Given the description of an element on the screen output the (x, y) to click on. 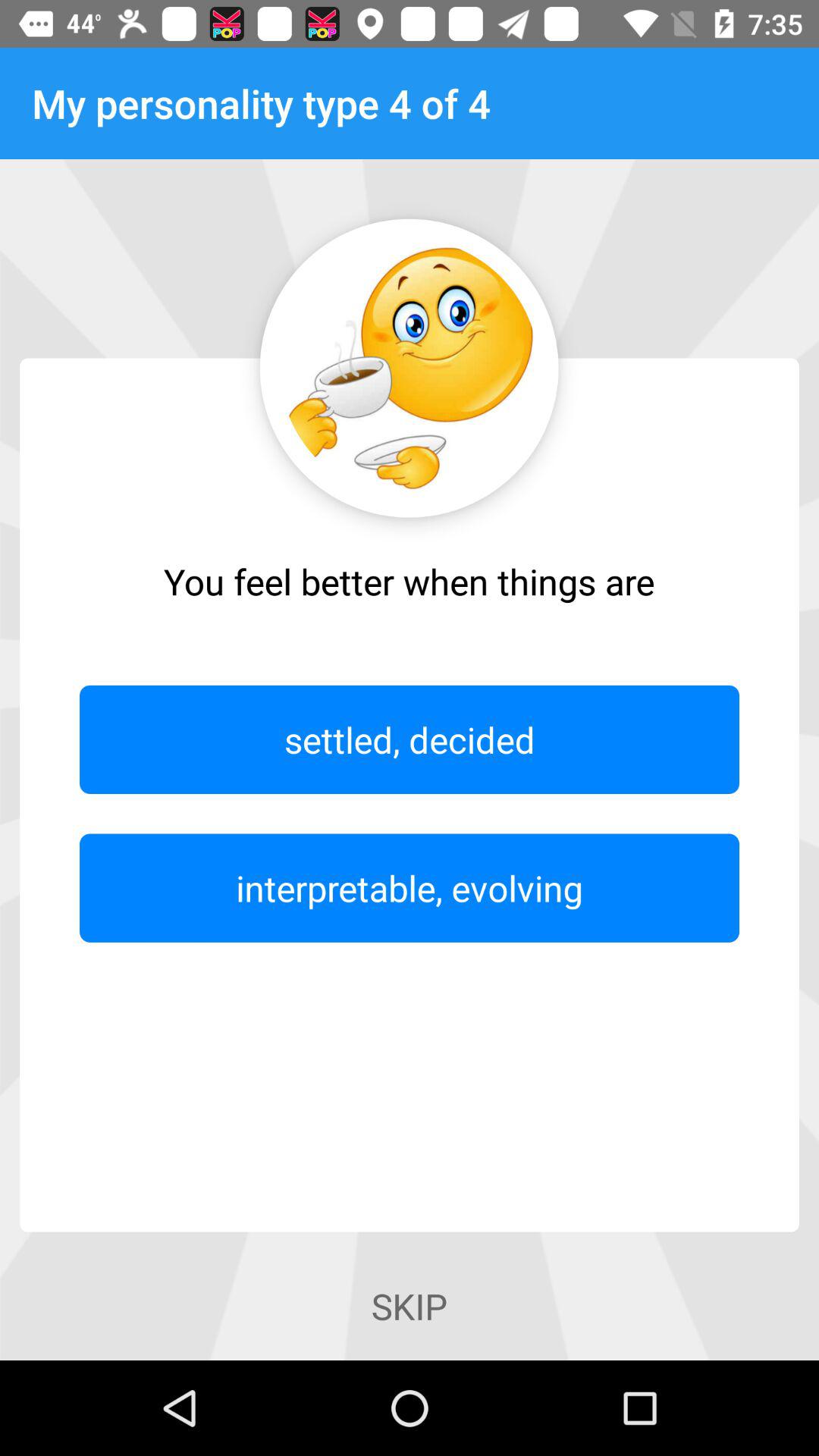
turn on icon above interpretable, evolving item (409, 739)
